Given the description of an element on the screen output the (x, y) to click on. 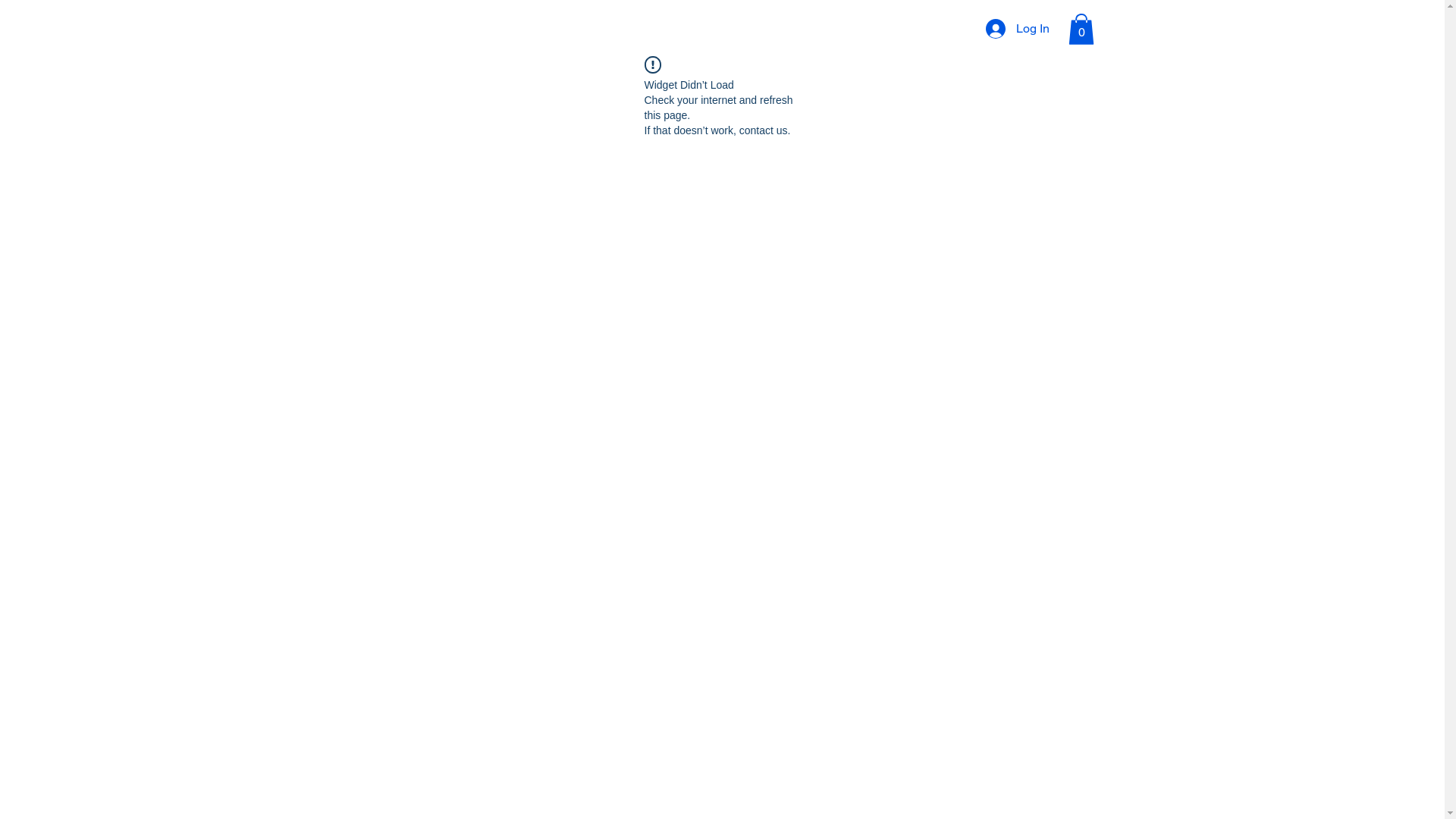
Log In Element type: text (1017, 28)
0 Element type: text (1080, 28)
